Given the description of an element on the screen output the (x, y) to click on. 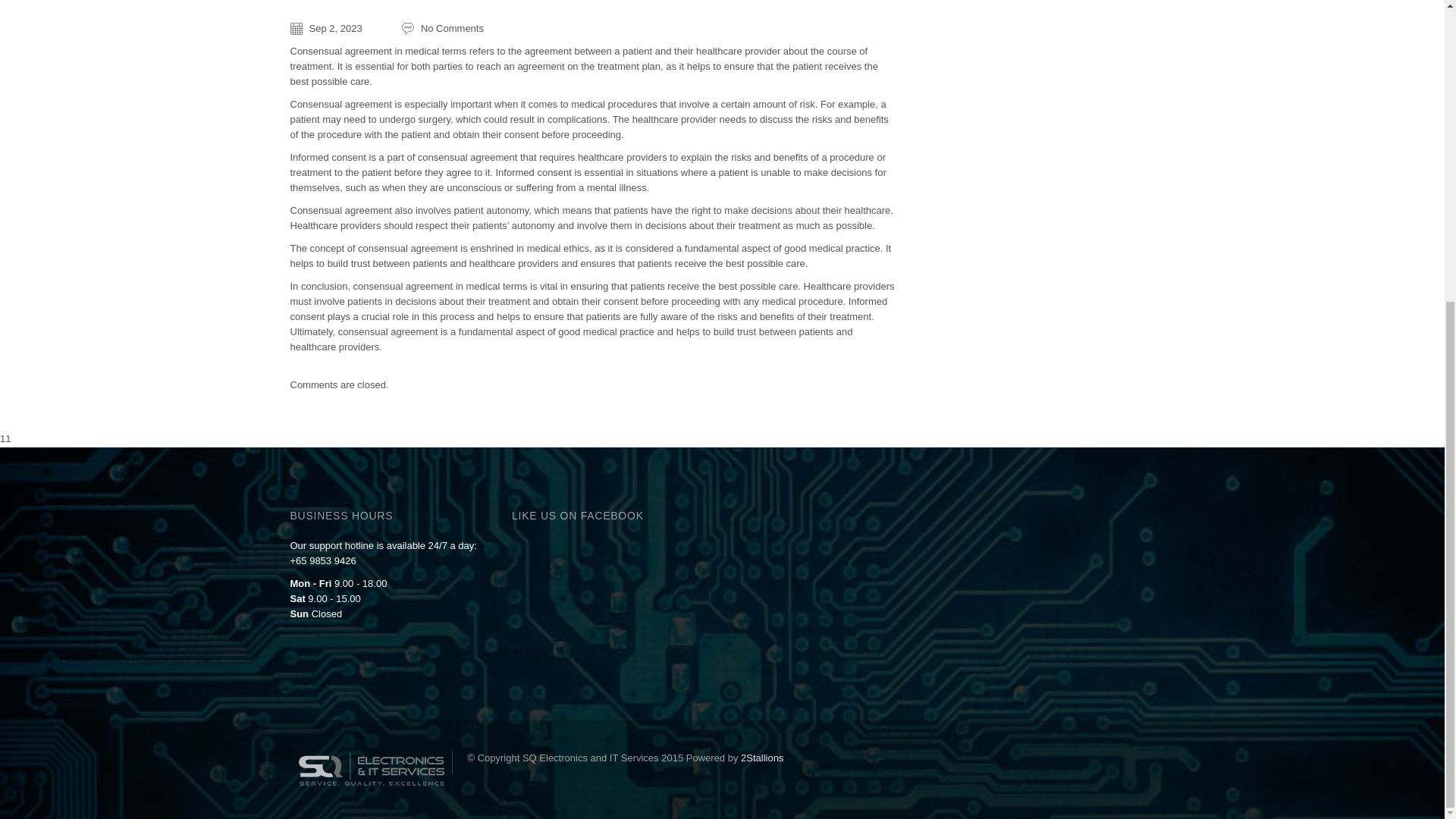
SQ Electronics (370, 754)
No Comments (442, 28)
Sep 2, 2023 (325, 28)
